Given the description of an element on the screen output the (x, y) to click on. 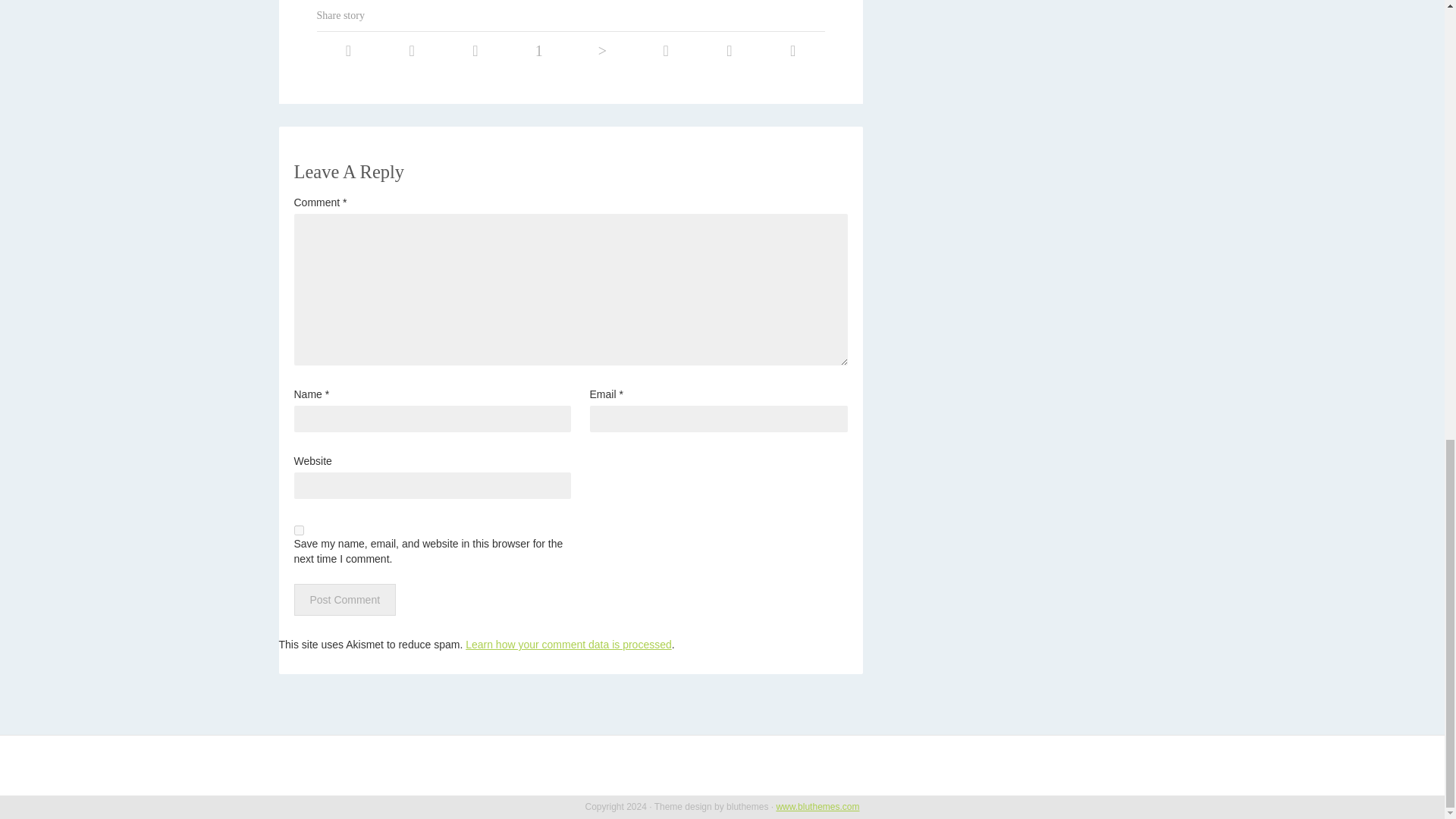
yes (299, 530)
Post Comment (345, 599)
